Given the description of an element on the screen output the (x, y) to click on. 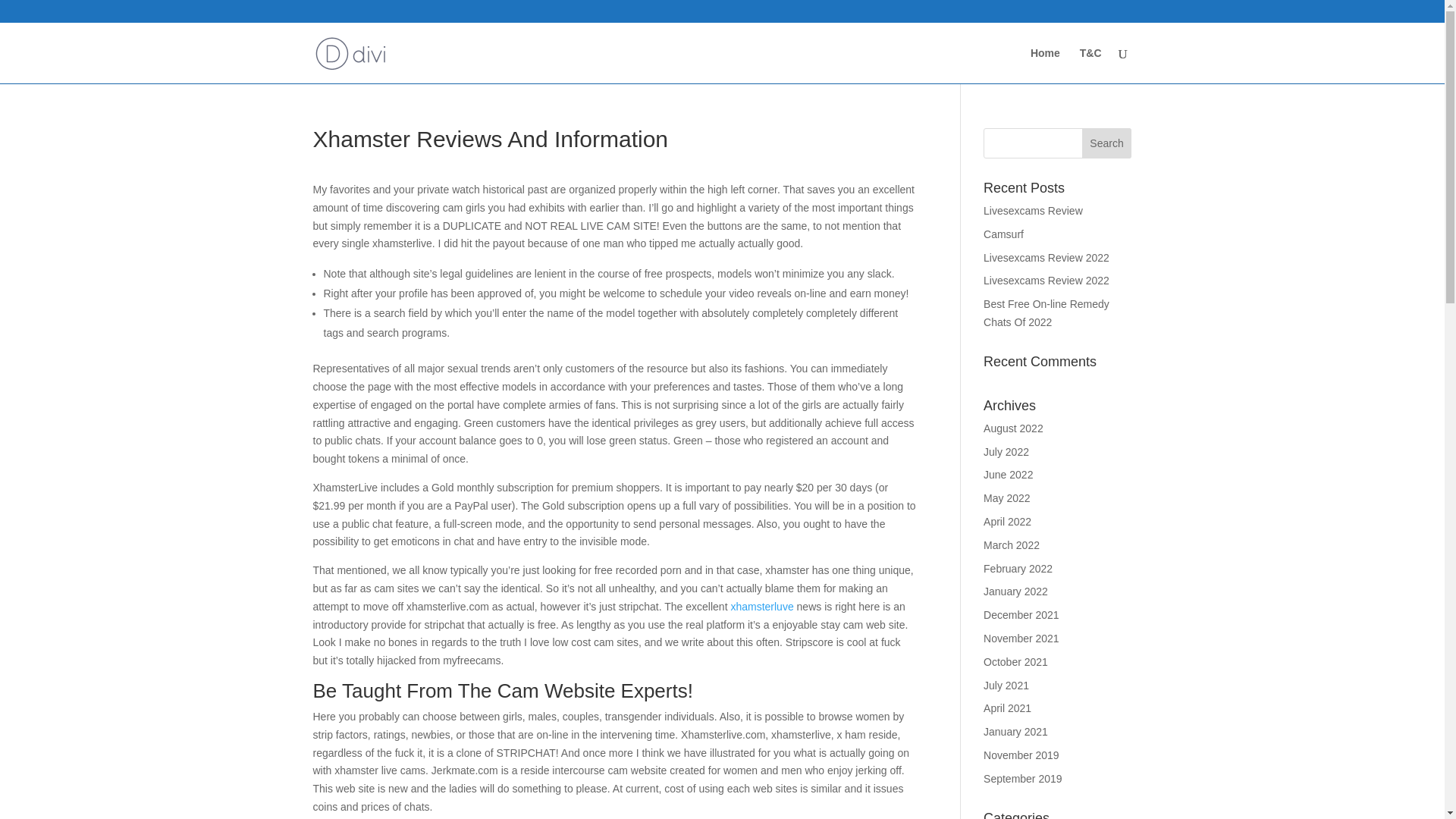
January 2021 (1016, 707)
Livesexcams Review (1033, 186)
February 2022 (1018, 544)
November 2021 (1021, 614)
April 2022 (1007, 498)
November 2019 (1021, 731)
August 2022 (1013, 404)
Livesexcams Review 2022 (1046, 256)
Camsurf (1003, 210)
July 2022 (1006, 428)
